Given the description of an element on the screen output the (x, y) to click on. 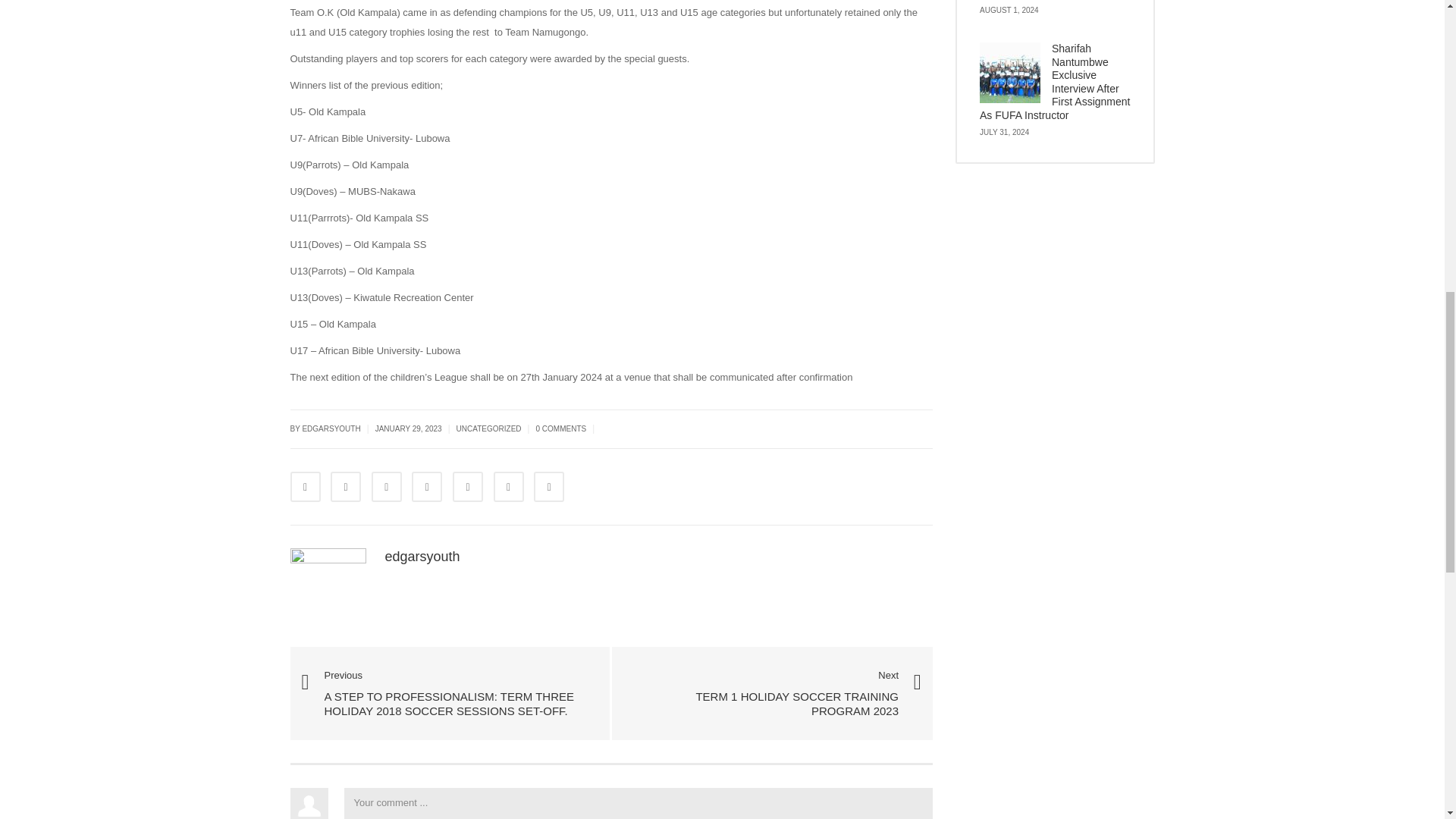
0 COMMENTS (560, 429)
Share on LinkedIn (386, 486)
Share on Vk (508, 486)
Email this (549, 486)
UNCATEGORIZED (489, 429)
Pin this (467, 486)
Share on Twitter (345, 486)
Share on Facebook (304, 486)
Share on Google Plus (427, 486)
Posts by edgarsyouth (422, 556)
